Given the description of an element on the screen output the (x, y) to click on. 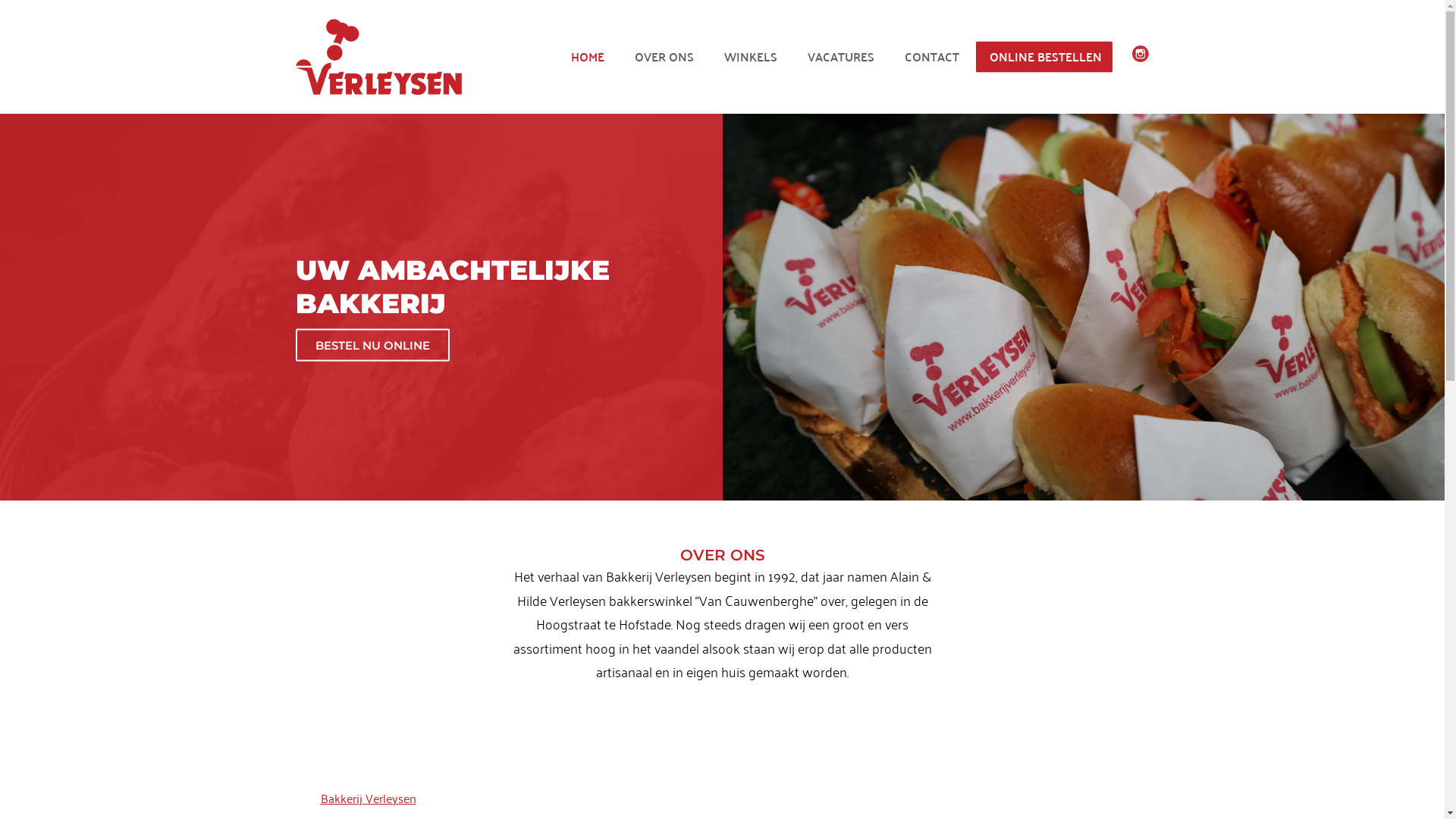
BESTEL NU ONLINE Element type: text (372, 345)
HOME Element type: text (587, 56)
OVER ONS Element type: text (663, 56)
ONLINE BESTELLEN Element type: text (1045, 56)
CONTACT Element type: text (931, 56)
WINKELS Element type: text (750, 56)
Bakkerij Verleysen Element type: text (367, 797)
VACATURES Element type: text (840, 56)
